Given the description of an element on the screen output the (x, y) to click on. 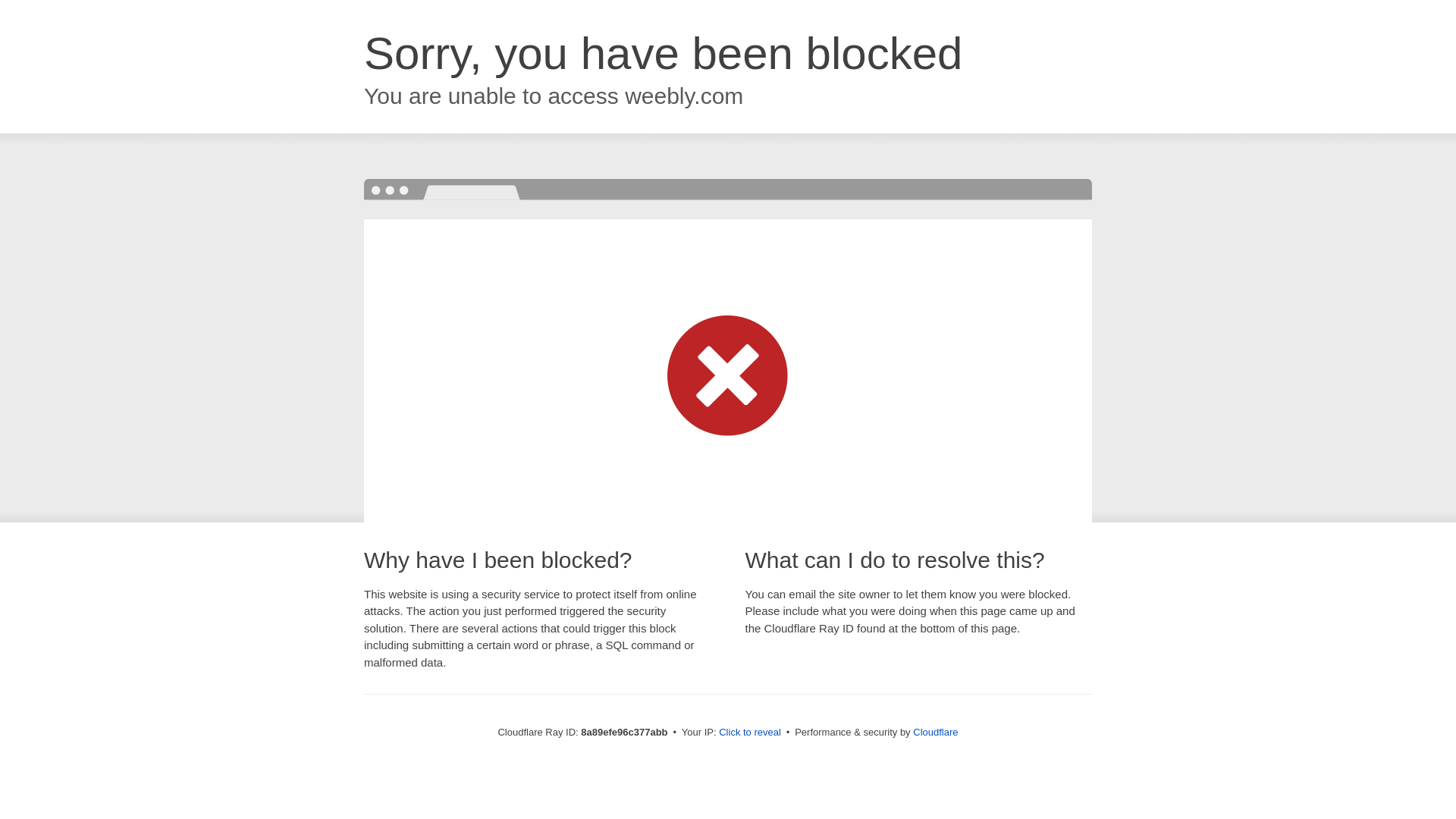
Click to reveal (749, 732)
Cloudflare (935, 731)
